Given the description of an element on the screen output the (x, y) to click on. 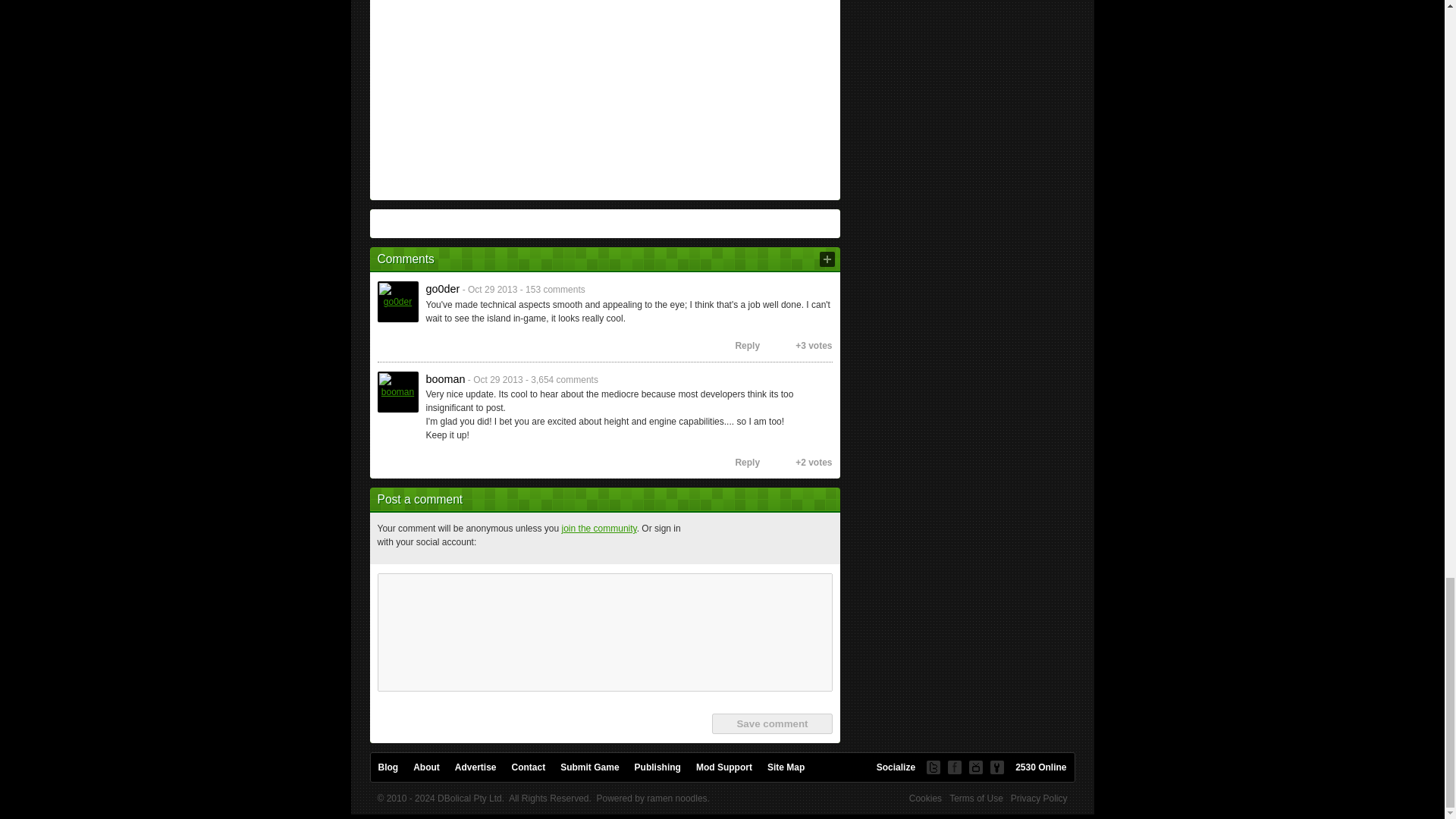
Post comment (826, 258)
go0der (398, 301)
Reply (740, 345)
Save comment (771, 723)
